Given the description of an element on the screen output the (x, y) to click on. 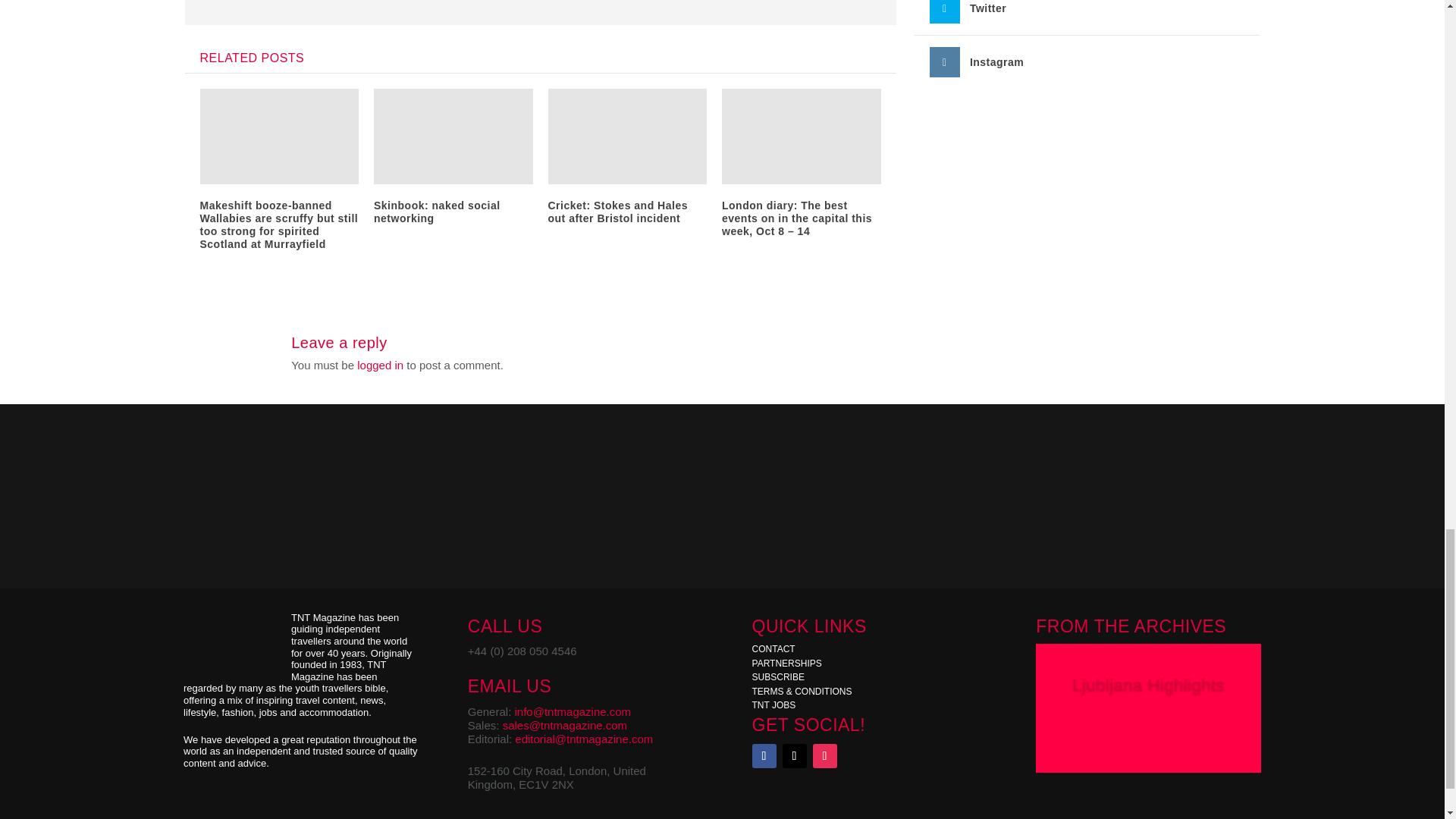
Skinbook: naked social networking (437, 211)
Cricket: Stokes and Hales out after Bristol incident (617, 211)
